Given the description of an element on the screen output the (x, y) to click on. 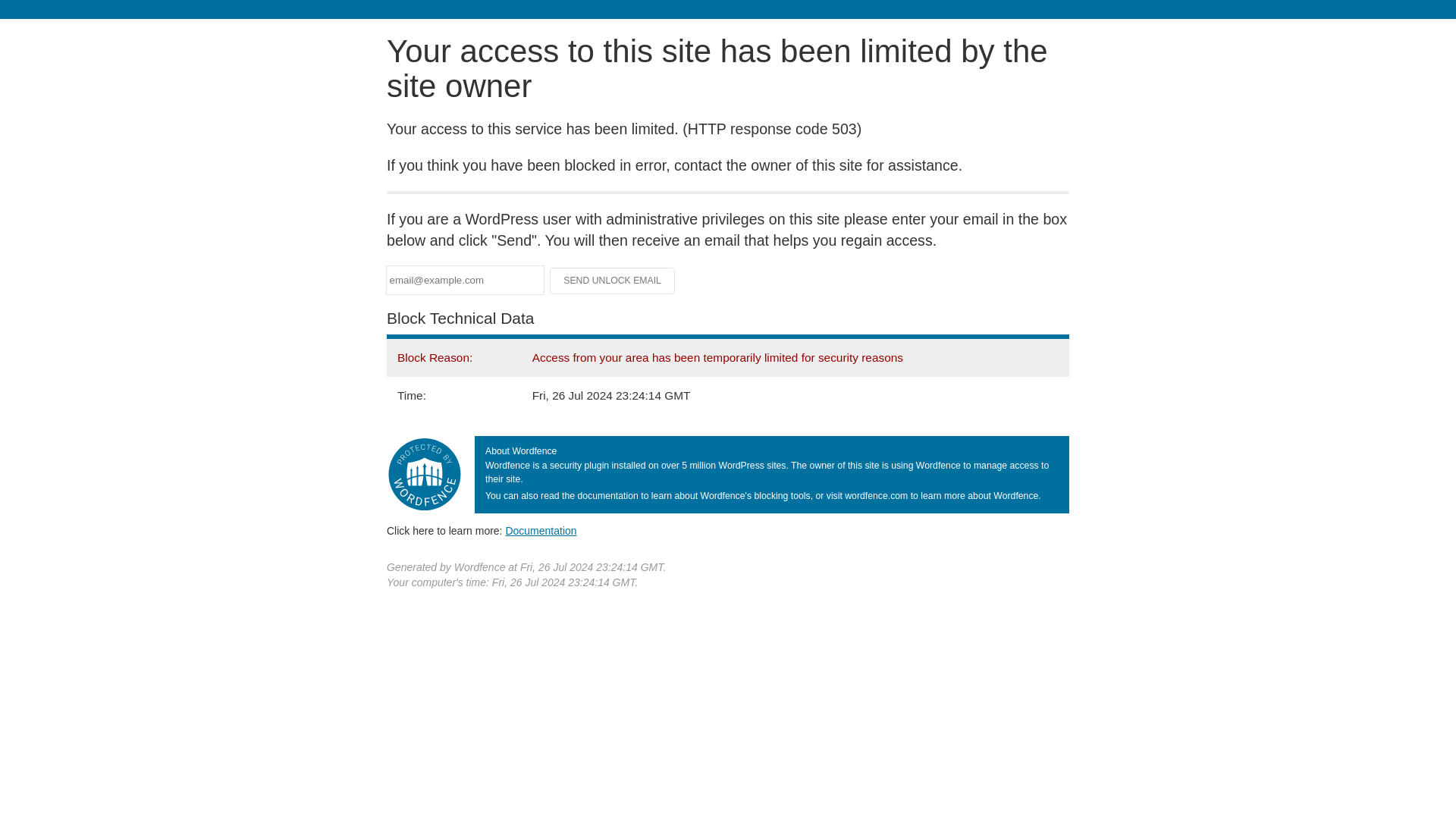
Send Unlock Email (612, 280)
Send Unlock Email (612, 280)
